Given the description of an element on the screen output the (x, y) to click on. 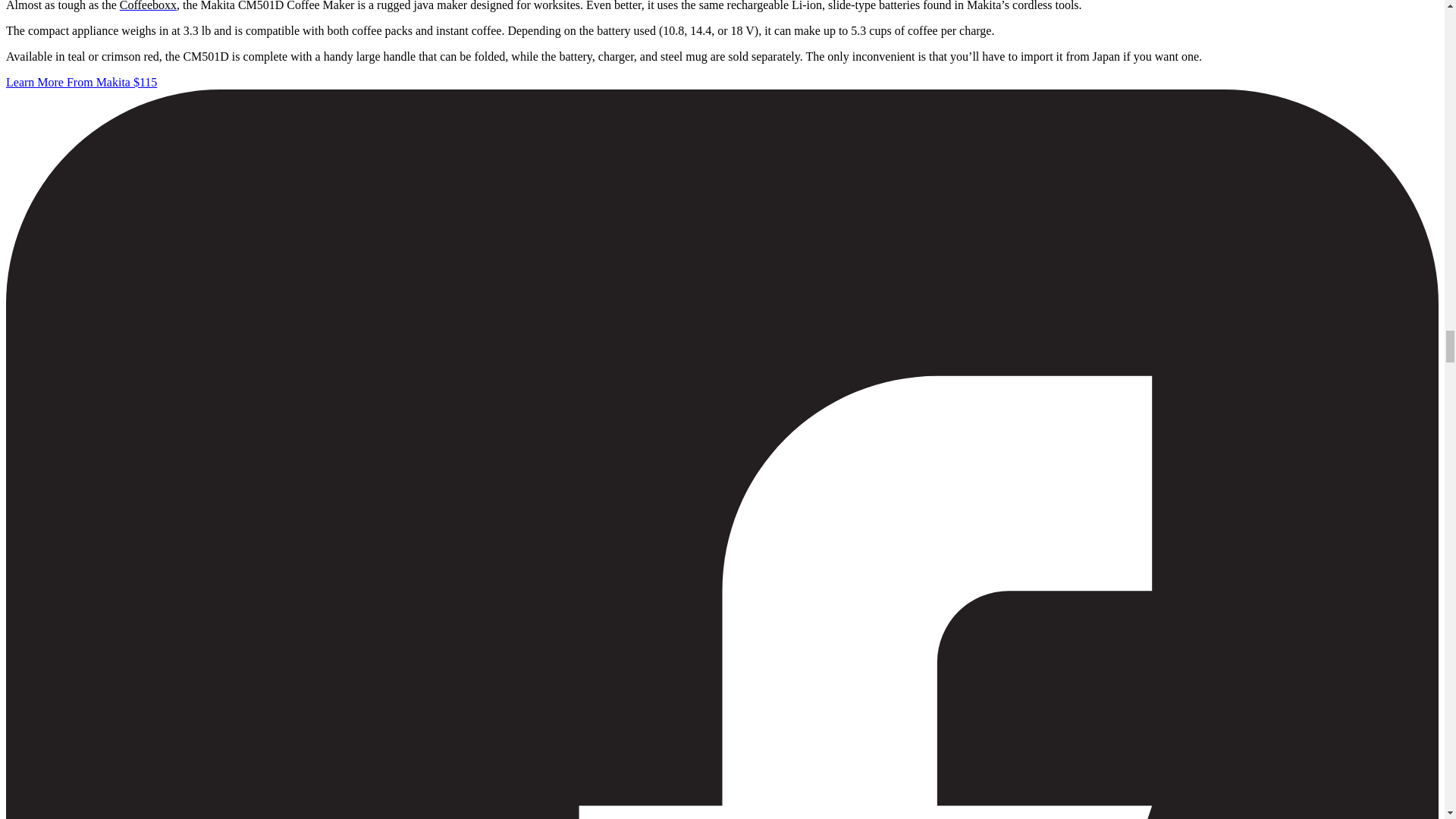
Coffeeboxx (147, 5)
